Given the description of an element on the screen output the (x, y) to click on. 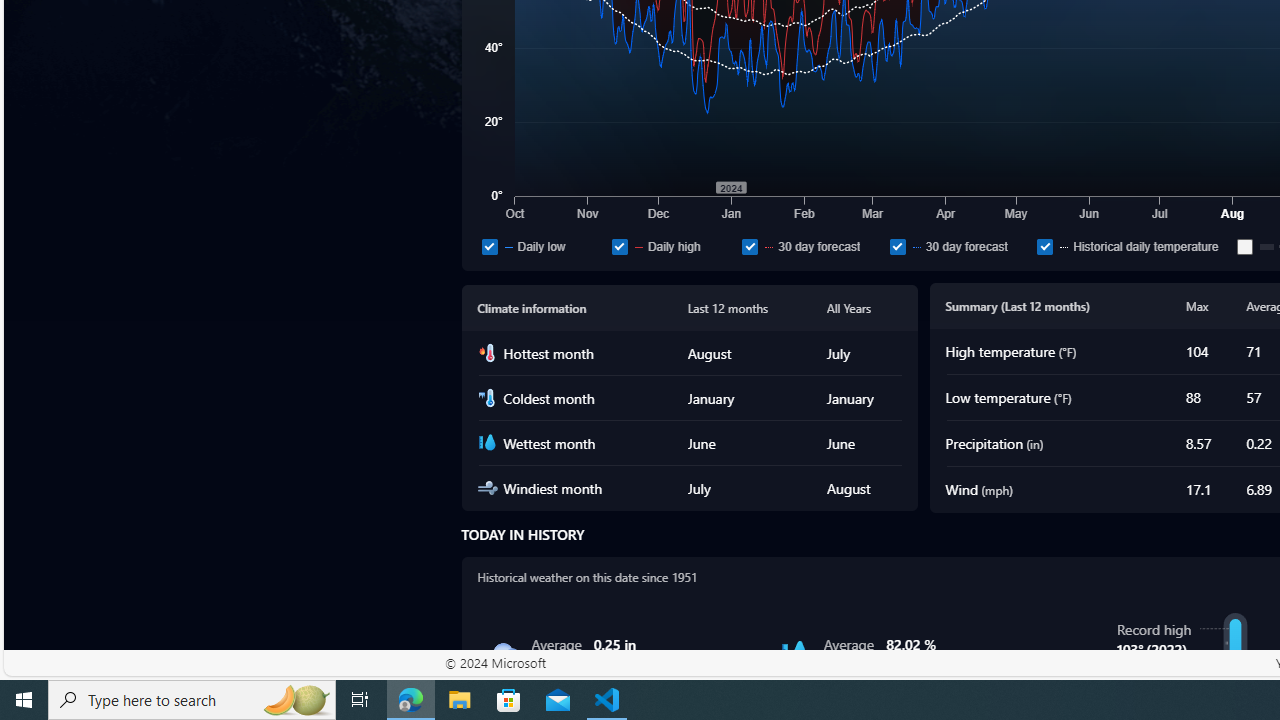
30 day forecast (897, 246)
30 day forecast (959, 246)
Confidence (1245, 246)
Rain (502, 654)
Daily high (619, 246)
Daily low (542, 246)
Historical daily temperature (1133, 246)
Humidity (795, 654)
Daily low (489, 246)
Historical daily temperature (1044, 246)
Daily high (672, 246)
